Given the description of an element on the screen output the (x, y) to click on. 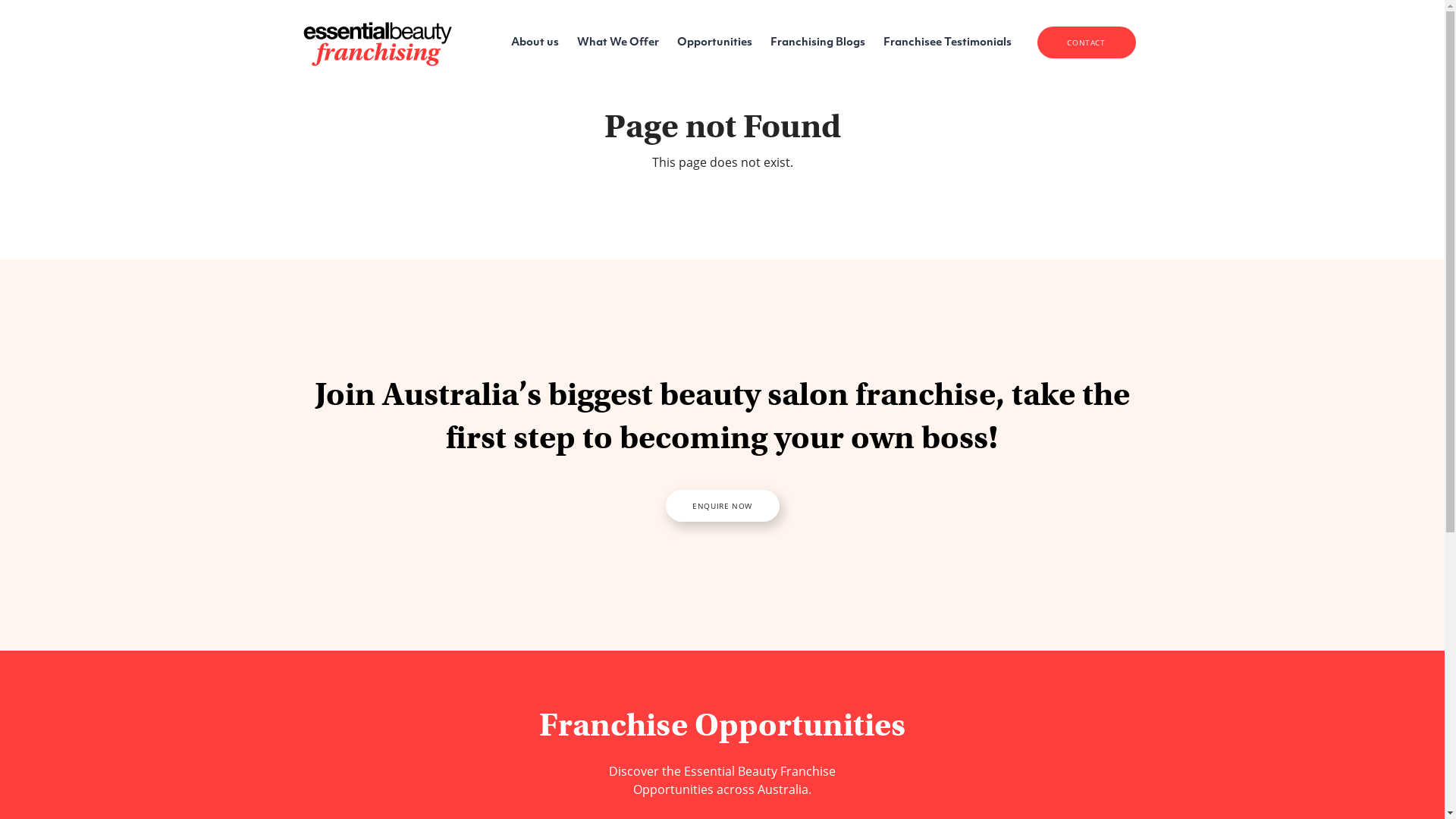
Franchising Blogs Element type: text (817, 42)
About us Element type: text (534, 42)
Opportunities Element type: text (713, 42)
ENQUIRE NOW Element type: text (722, 505)
What We Offer Element type: text (617, 42)
CONTACT Element type: text (1086, 42)
Essential Beauty Franchising Element type: hover (377, 41)
Franchisee Testimonials Element type: text (946, 42)
